Given the description of an element on the screen output the (x, y) to click on. 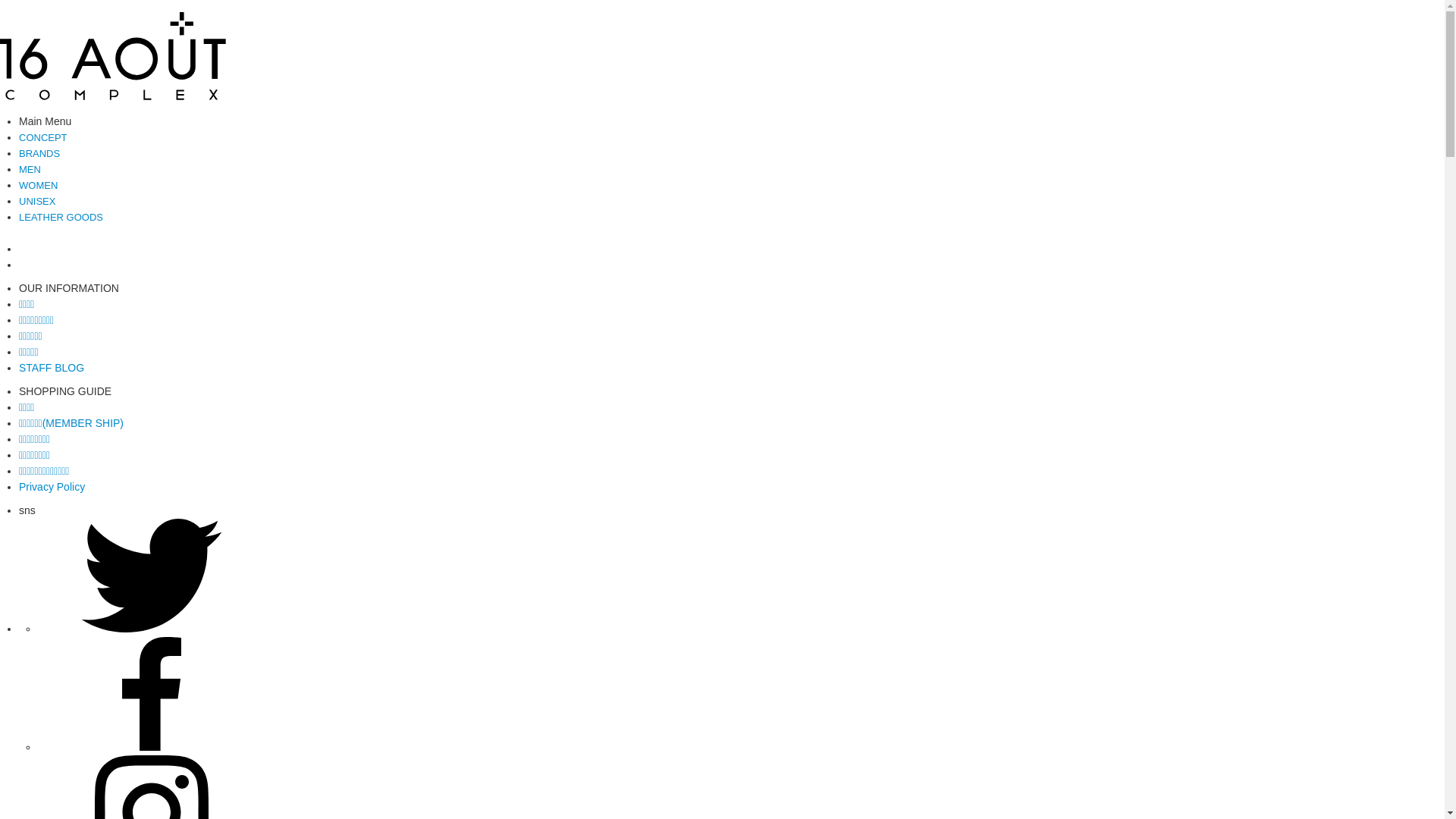
BRANDS Element type: text (38, 153)
MEN Element type: text (29, 169)
LEATHER GOODS Element type: text (60, 216)
Privacy Policy Element type: text (51, 486)
CONCEPT Element type: text (42, 137)
STAFF BLOG Element type: text (51, 367)
GIFT IDEA Element type: text (42, 248)
WOMEN Element type: text (37, 184)
UNISEX Element type: text (36, 200)
